Given the description of an element on the screen output the (x, y) to click on. 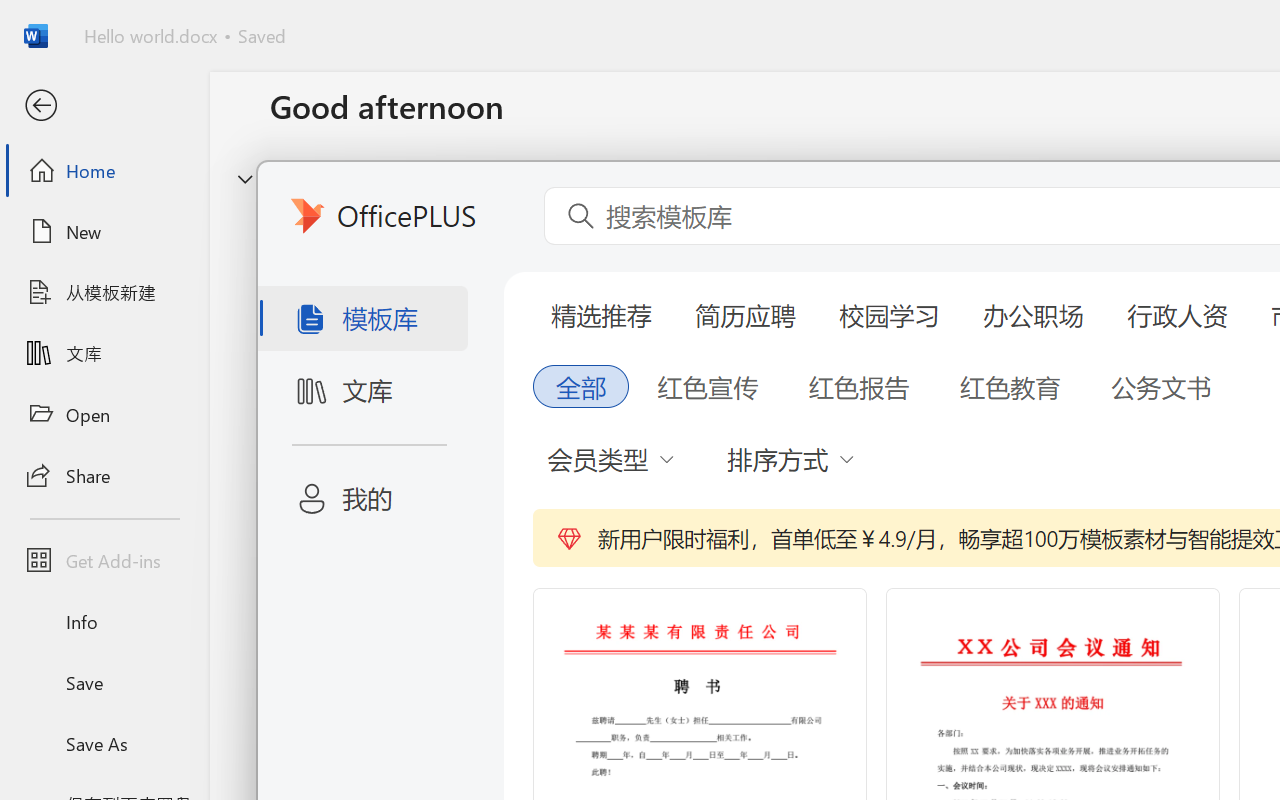
Save (104, 682)
New (104, 231)
Save As (104, 743)
Get Add-ins (104, 560)
Share (104, 474)
